Given the description of an element on the screen output the (x, y) to click on. 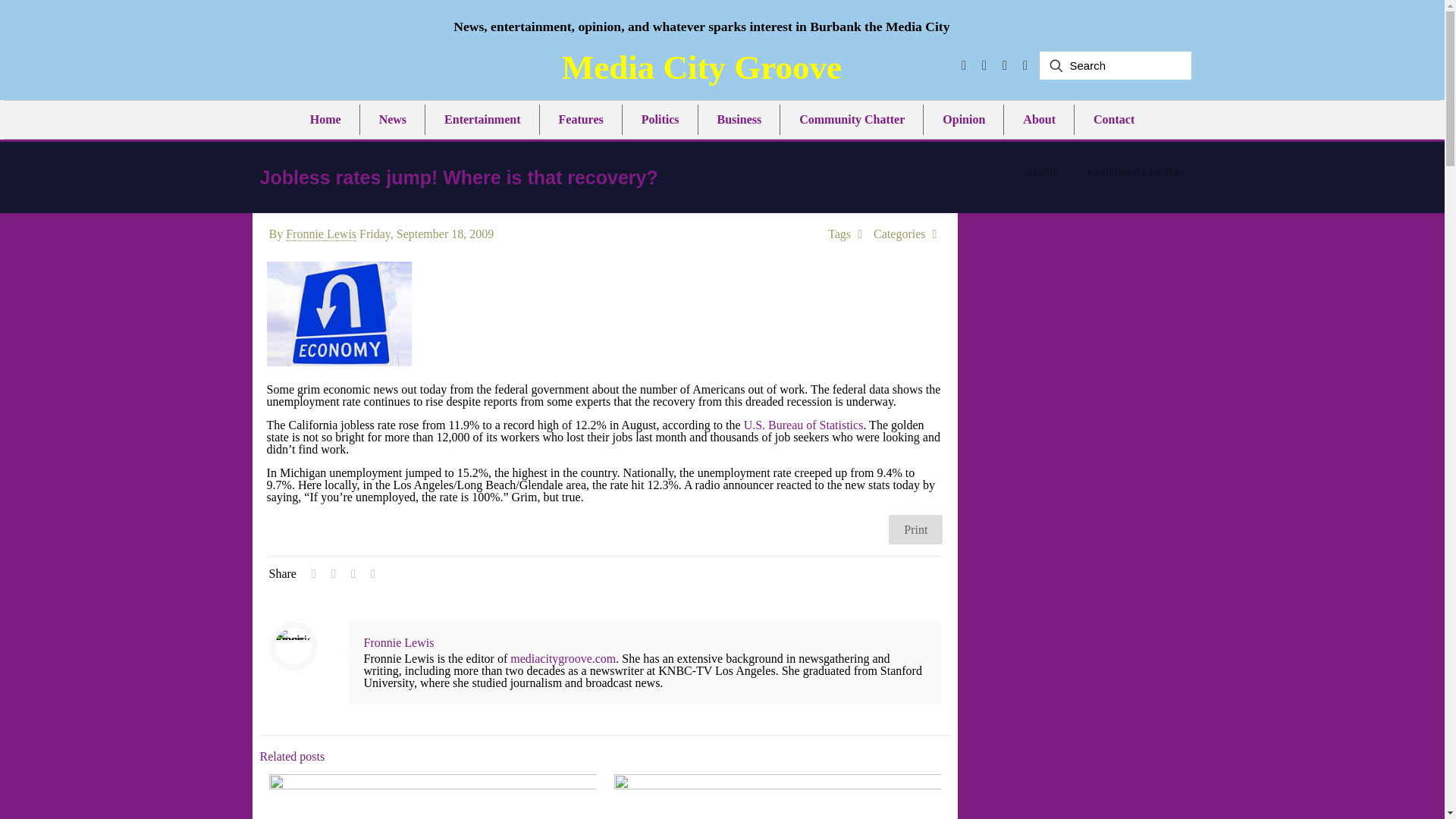
Home (325, 119)
Home (1042, 170)
Community Chatter (852, 119)
Opinion (963, 119)
Media City Groove (701, 67)
Fronnie Lewis (320, 233)
Community Chatter (1136, 170)
Features (580, 119)
Contact (1114, 119)
